Given the description of an element on the screen output the (x, y) to click on. 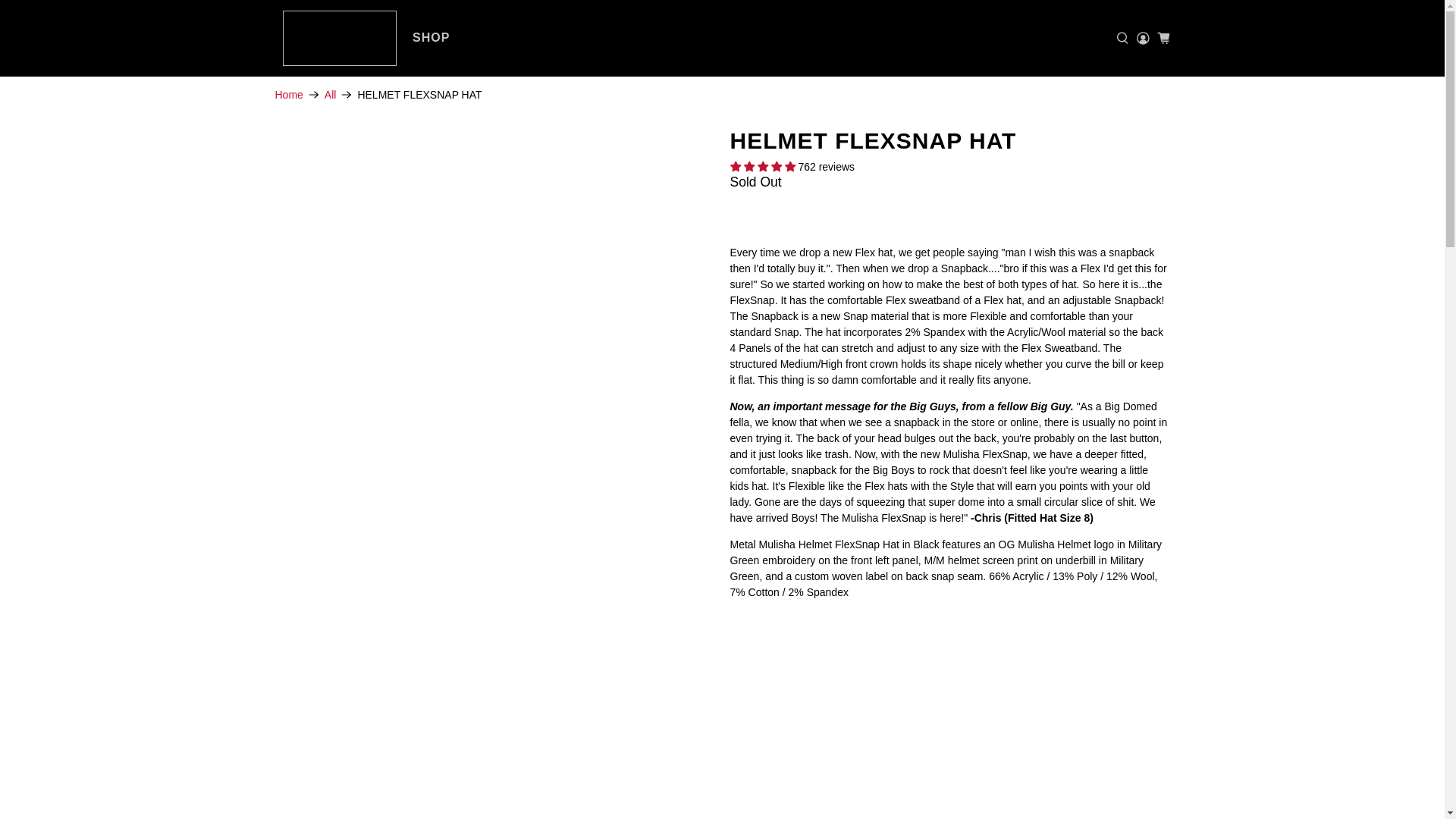
Metal Mulisha (288, 94)
SHOP (431, 37)
Metal Mulisha (339, 38)
